Given the description of an element on the screen output the (x, y) to click on. 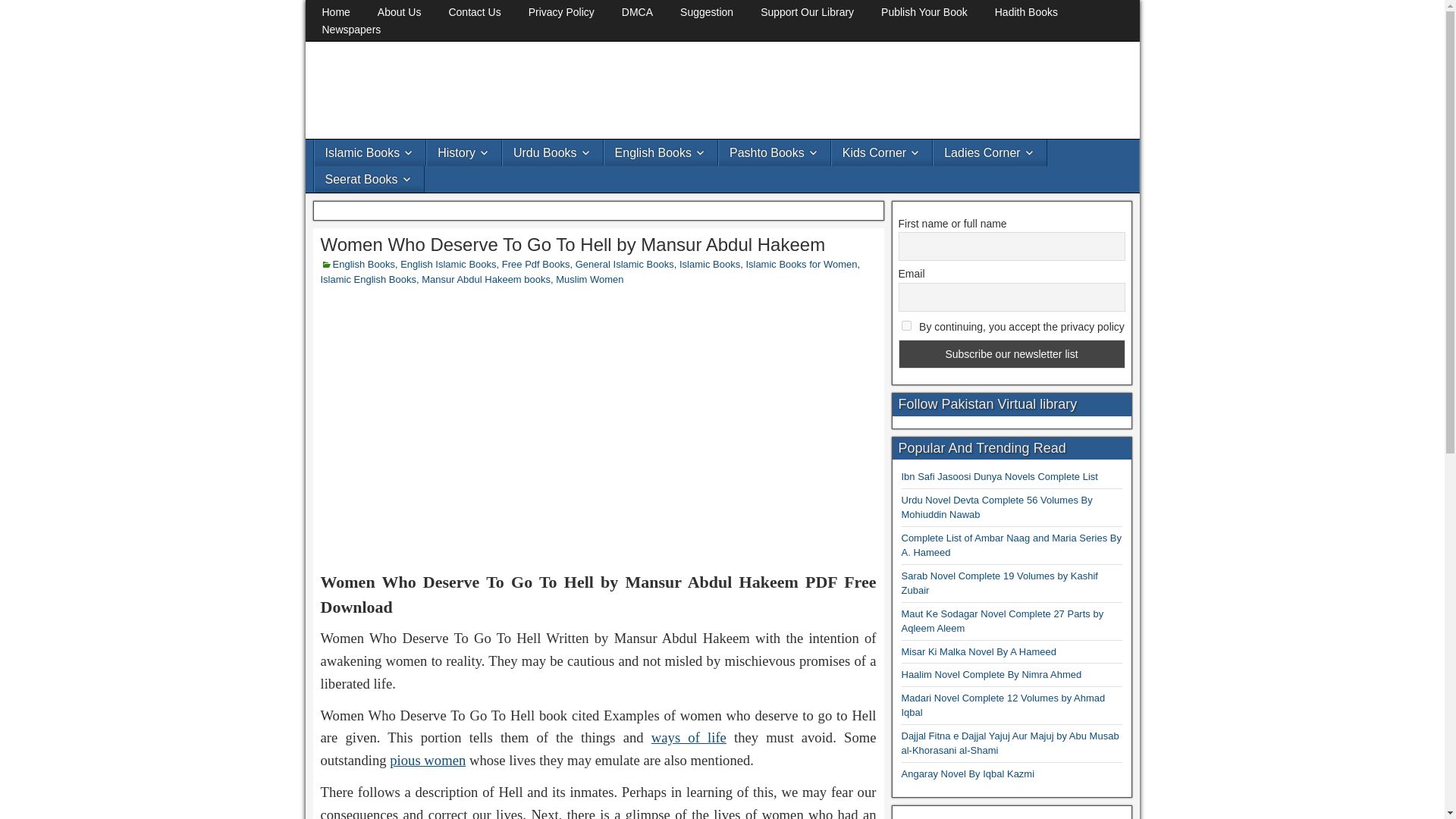
History (463, 152)
Suggestion (706, 12)
Hadith Books (1026, 12)
Home (334, 12)
Support Our Library (806, 12)
Subscribe our newsletter list (1011, 353)
Newspapers (350, 29)
Publish Your Book (924, 12)
on (906, 325)
Islamic Books (369, 152)
About Us (399, 12)
Contact Us (473, 12)
Privacy Policy (561, 12)
DMCA (637, 12)
